Given the description of an element on the screen output the (x, y) to click on. 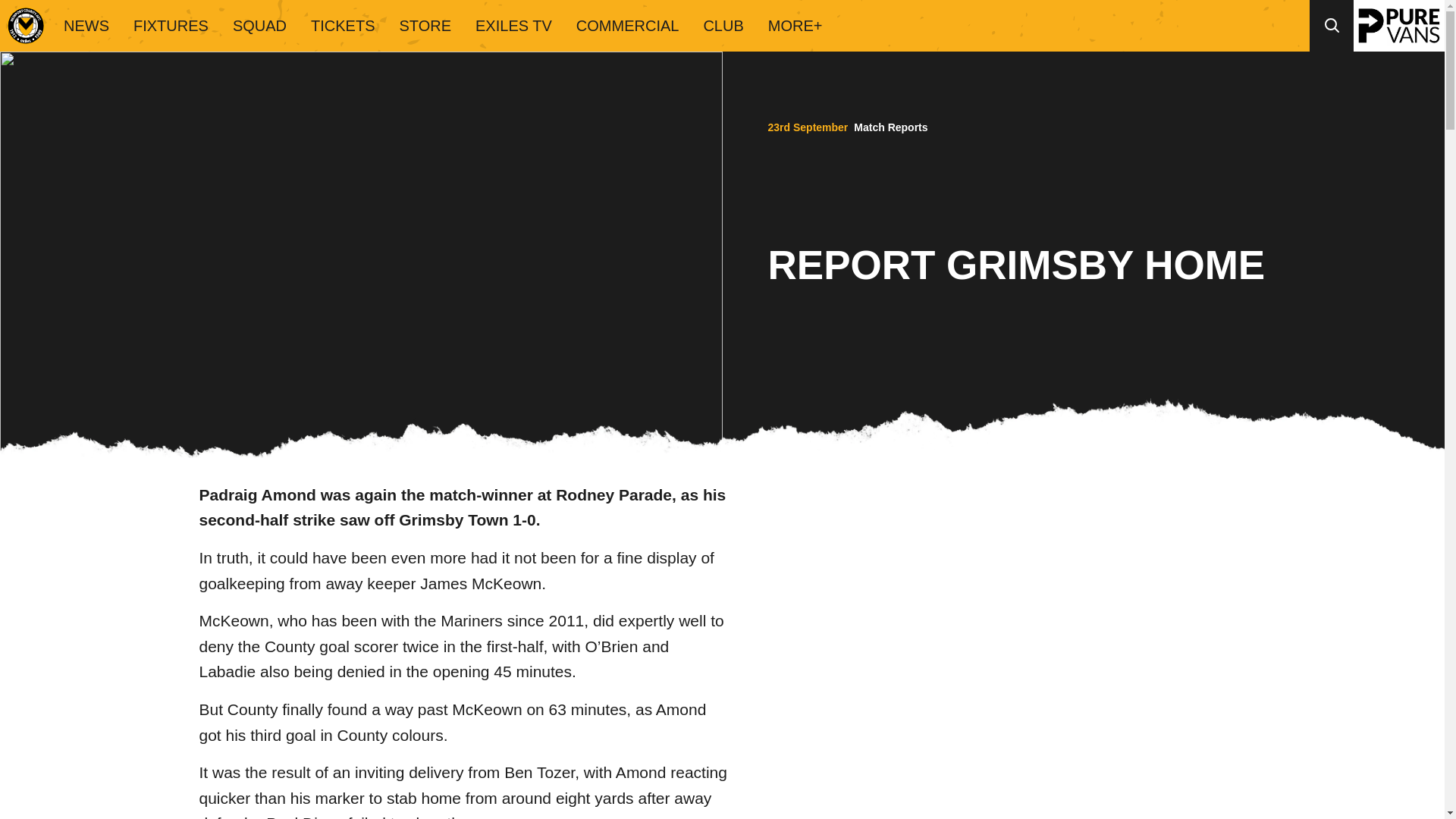
TICKETS (342, 25)
CLUB (722, 25)
EXILES TV (513, 25)
FIXTURES (170, 25)
Back to home (25, 25)
STORE (425, 25)
SQUAD (259, 25)
COMMERCIAL (627, 25)
NEWS (85, 25)
